Given the description of an element on the screen output the (x, y) to click on. 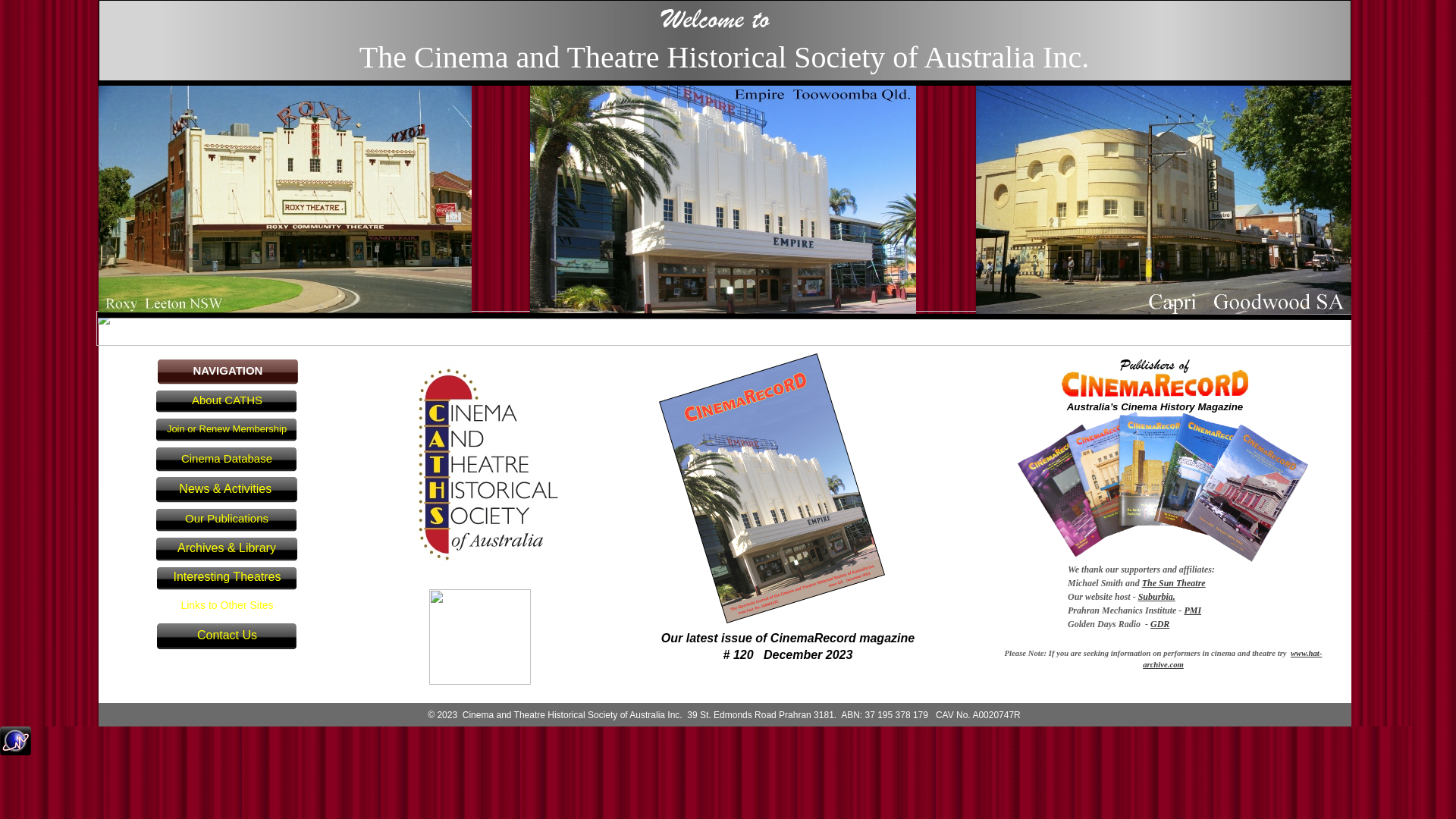
GDR Element type: text (1159, 623)
Cinema Database Element type: text (226, 459)
Contact Us Element type: text (226, 636)
eXTReMe Tracker - Free Website Statistics Element type: hover (15, 750)
Links to Other Sites Element type: text (226, 606)
Suburbia. Element type: text (1156, 596)
Join or Renew Membership Element type: text (226, 430)
About CATHS Element type: text (226, 401)
The Sun Theatre Element type: text (1173, 582)
www.hat-archive.com Element type: text (1231, 658)
PMI Element type: text (1192, 610)
Interesting Theatres Element type: text (226, 578)
Our Publications Element type: text (226, 520)
Archives & Library Element type: text (227, 549)
 News & Activities   Element type: text (227, 489)
NAVIGATION Element type: text (227, 372)
